Given the description of an element on the screen output the (x, y) to click on. 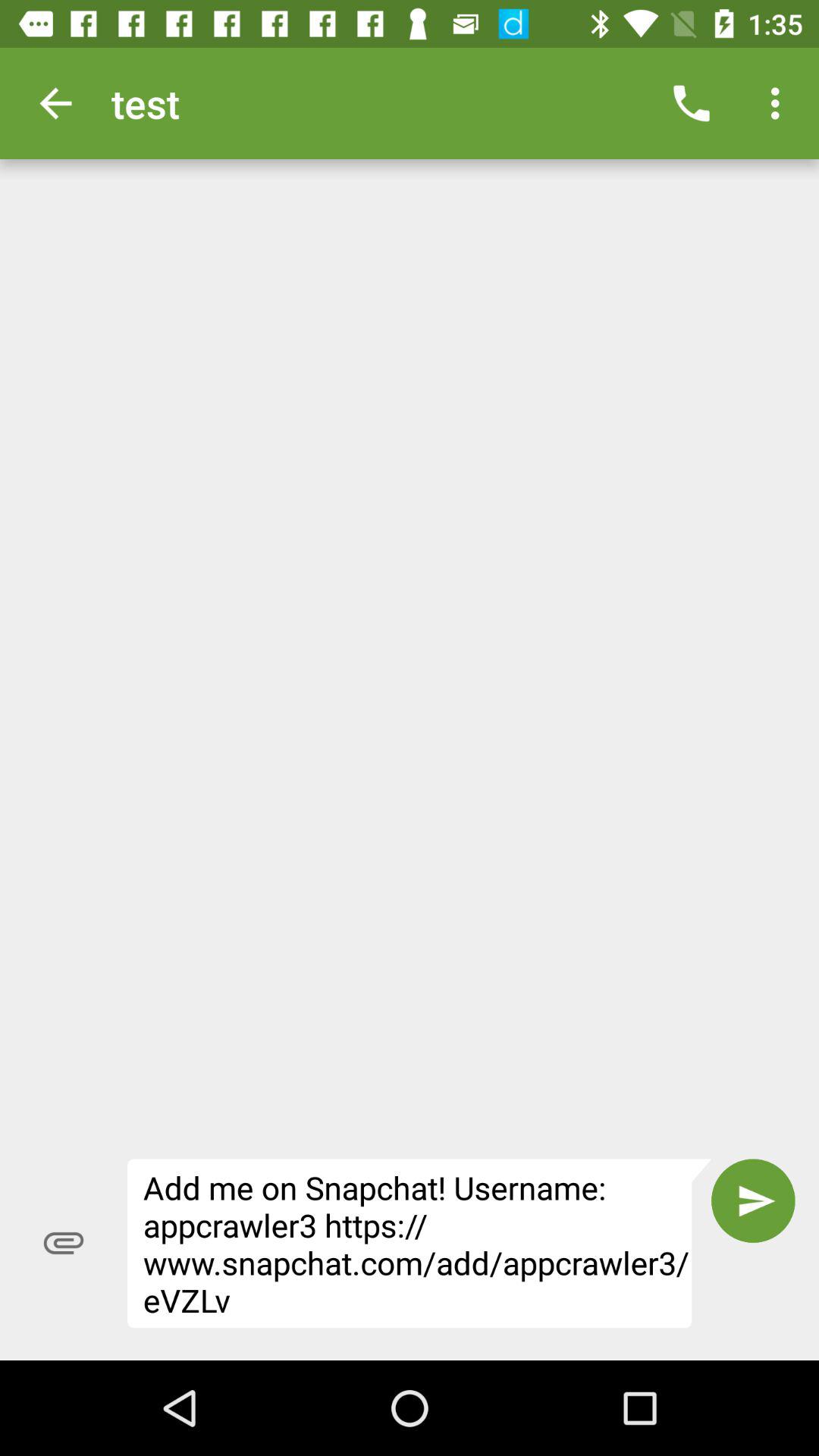
turn on the icon next to the add me on icon (753, 1200)
